Given the description of an element on the screen output the (x, y) to click on. 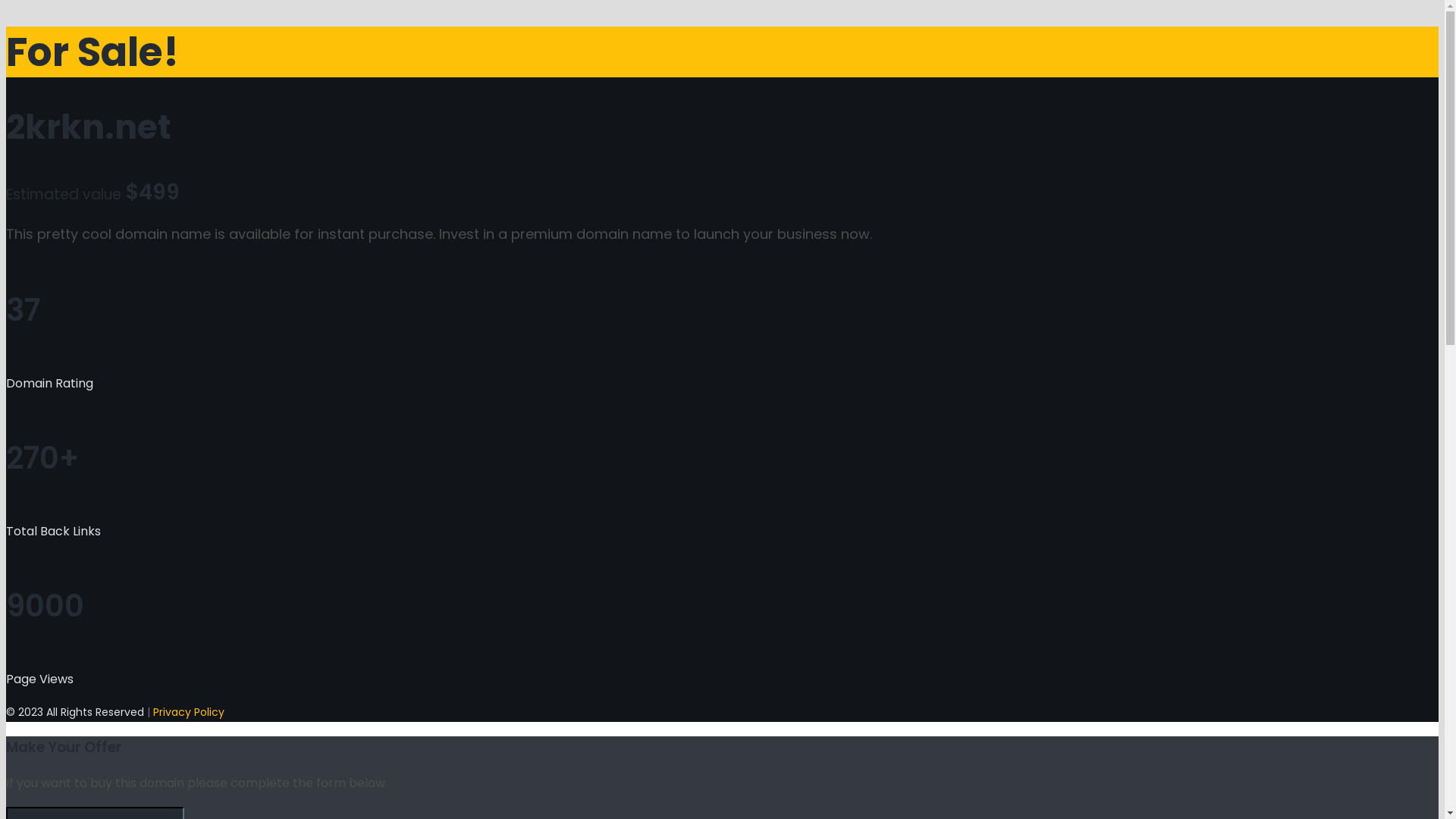
Privacy Policy Element type: text (188, 711)
